Given the description of an element on the screen output the (x, y) to click on. 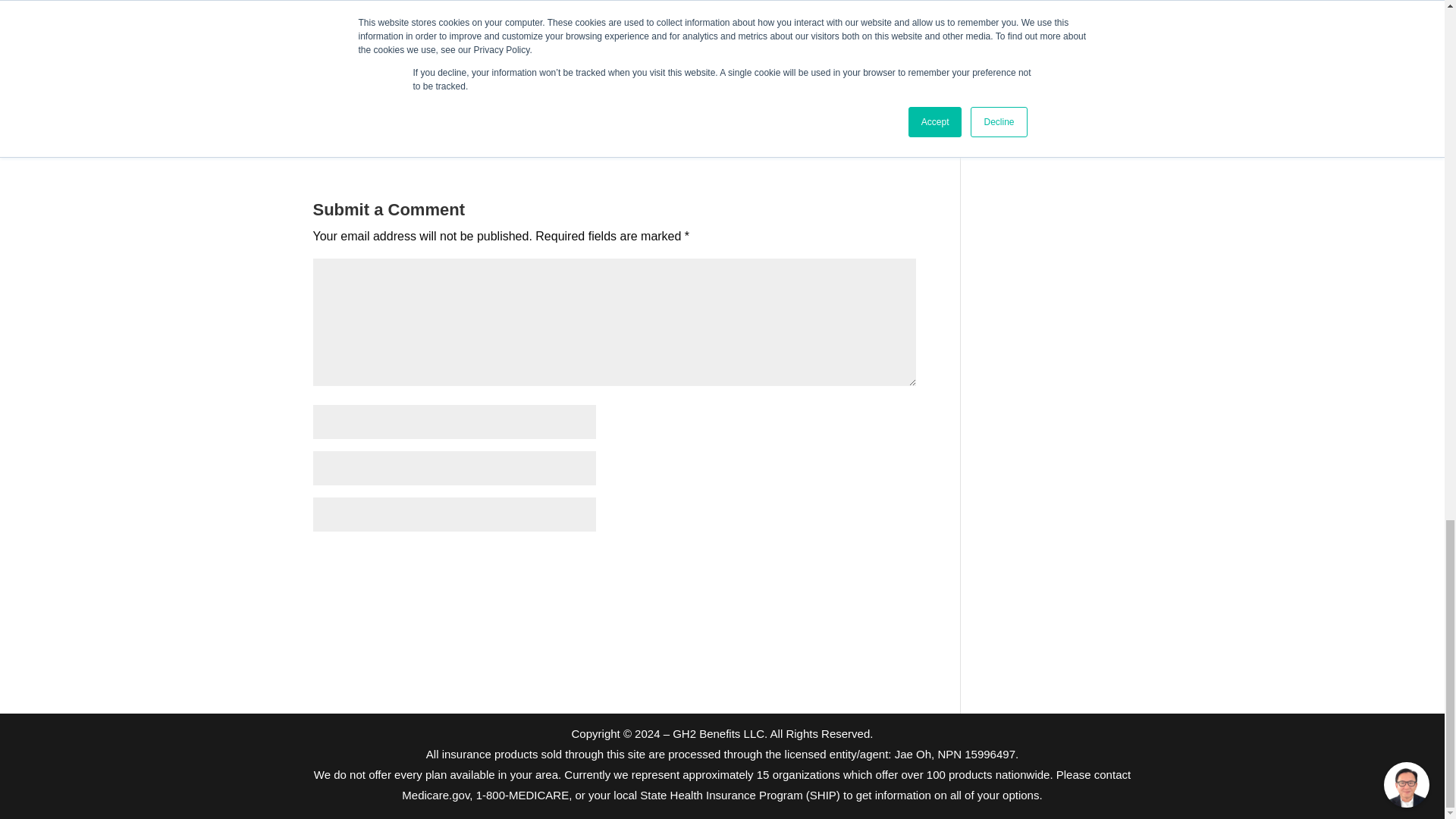
Submit Comment (840, 562)
